Given the description of an element on the screen output the (x, y) to click on. 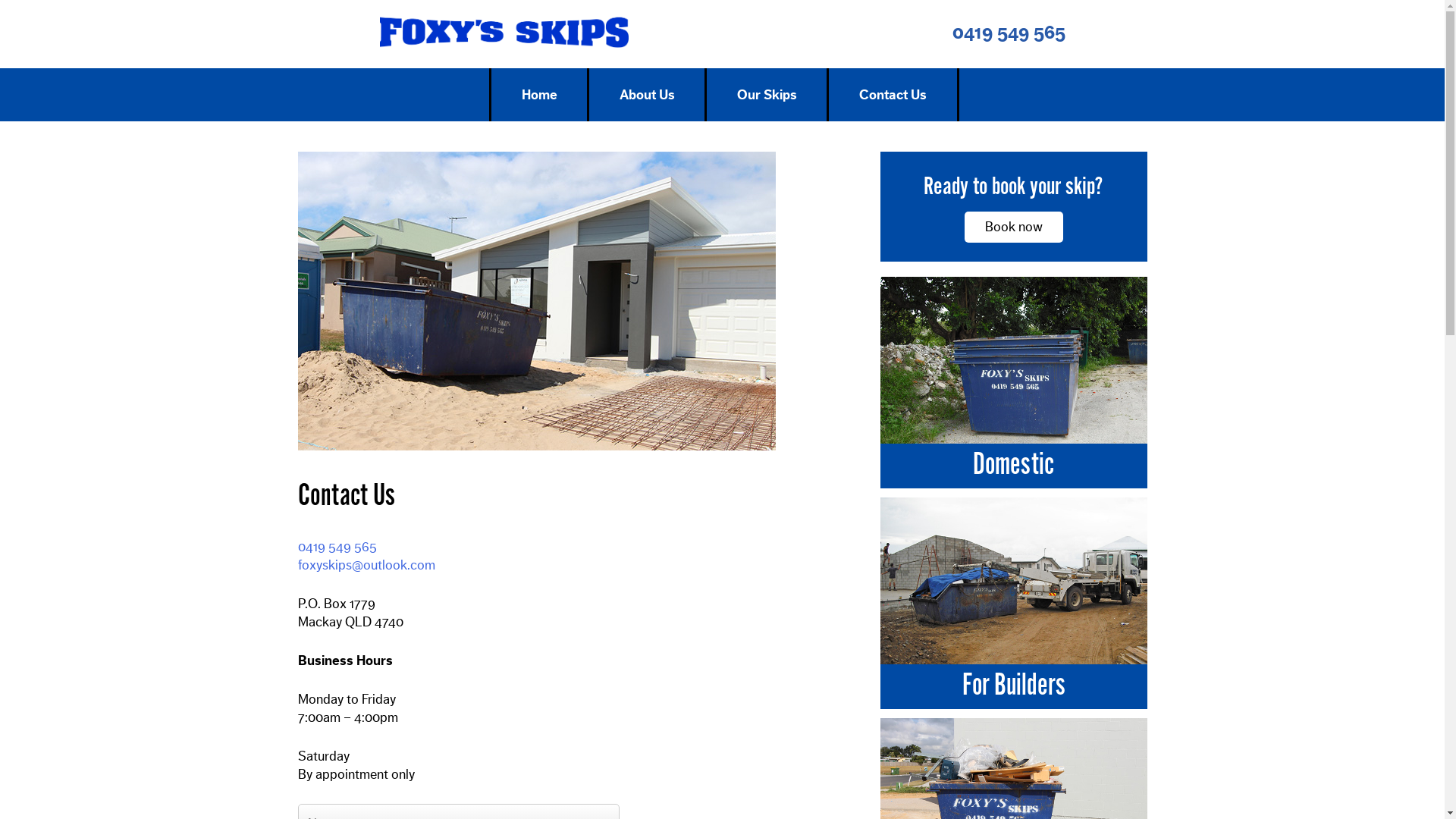
About Us Element type: text (647, 94)
Contact Us Element type: text (892, 94)
foxyskips@outlook.com Element type: text (365, 564)
0419 549 565 Element type: text (336, 546)
Domestic Element type: text (1012, 460)
0419 549 565 Element type: text (1008, 32)
For Builders Element type: text (1012, 681)
Home Element type: text (539, 94)
Our Skips Element type: text (766, 94)
Book now Element type: text (1013, 226)
